Given the description of an element on the screen output the (x, y) to click on. 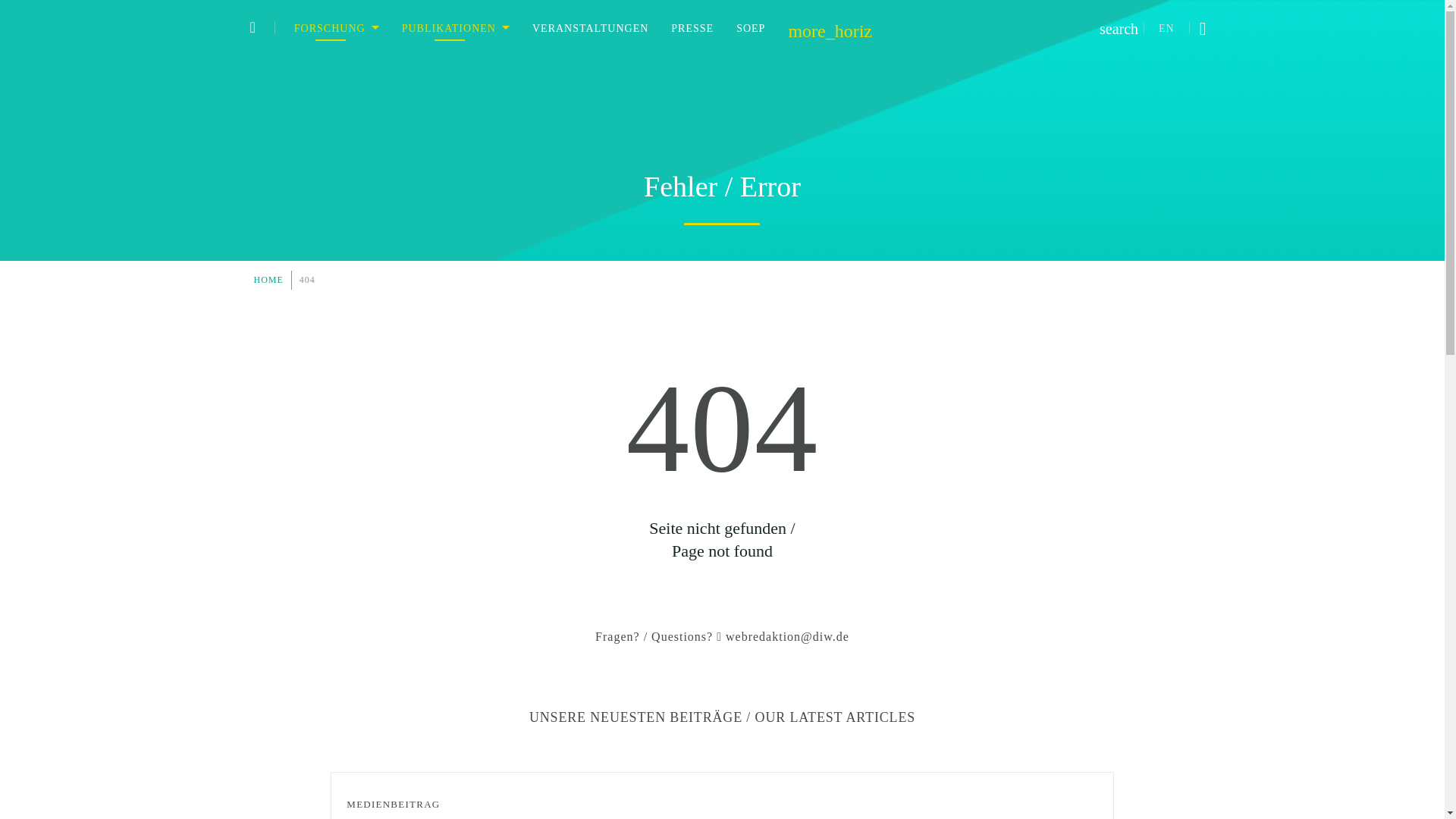
NO english version of this page available (1165, 29)
SOEP (750, 27)
PUBLIKATIONEN (455, 27)
VERANSTALTUNGEN (589, 27)
PRESSE (692, 27)
FORSCHUNG (336, 27)
search (1129, 29)
